Given the description of an element on the screen output the (x, y) to click on. 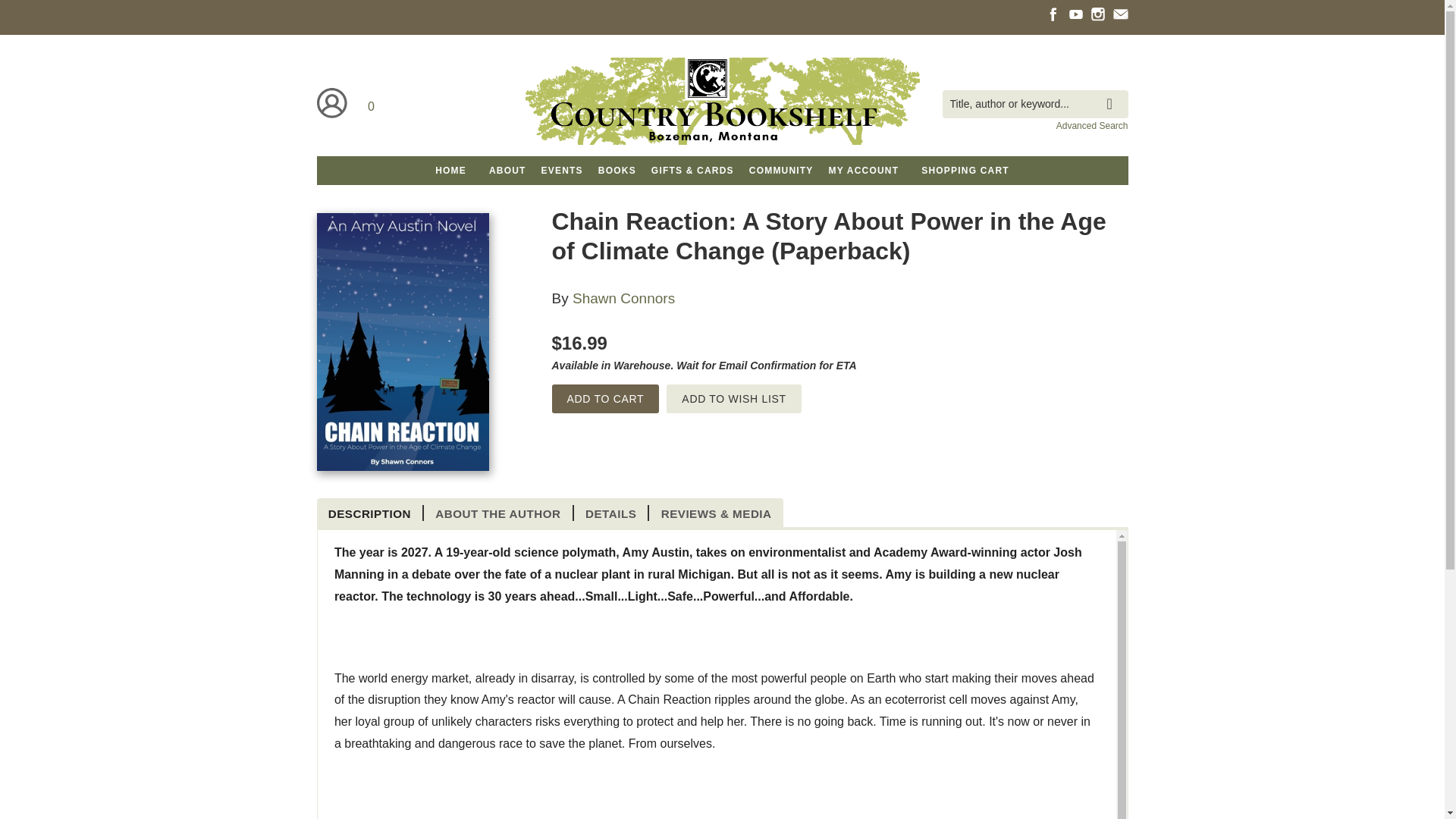
COMMUNITY (781, 170)
HOME (450, 170)
search (1112, 92)
Add to Cart (605, 399)
EVENTS (562, 170)
Home (721, 103)
Title, author or keyword... (1034, 103)
ABOUT (507, 170)
search (1112, 92)
Advanced Search (1092, 125)
BOOKS (617, 170)
